Given the description of an element on the screen output the (x, y) to click on. 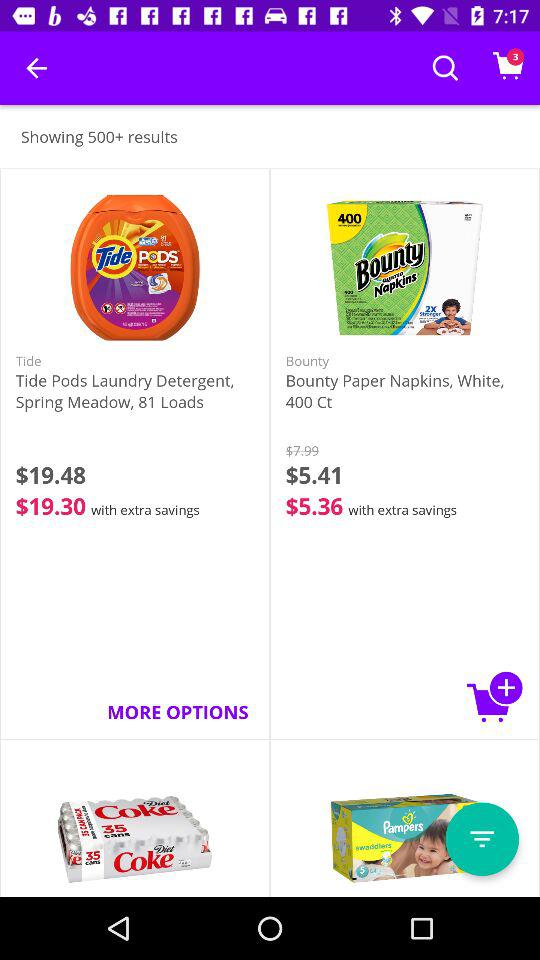
save option (482, 839)
